Given the description of an element on the screen output the (x, y) to click on. 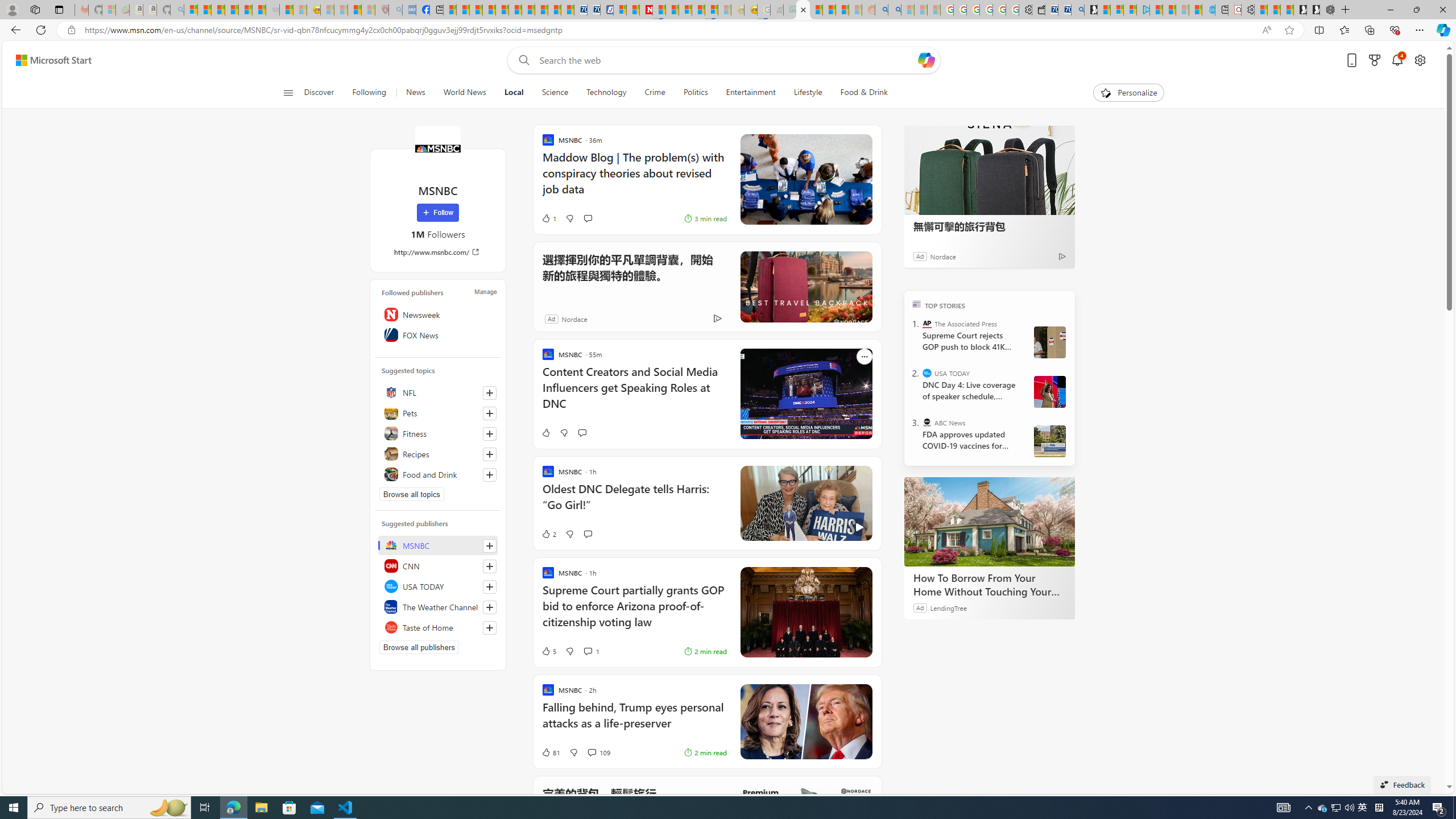
MSNBC (437, 148)
